Given the description of an element on the screen output the (x, y) to click on. 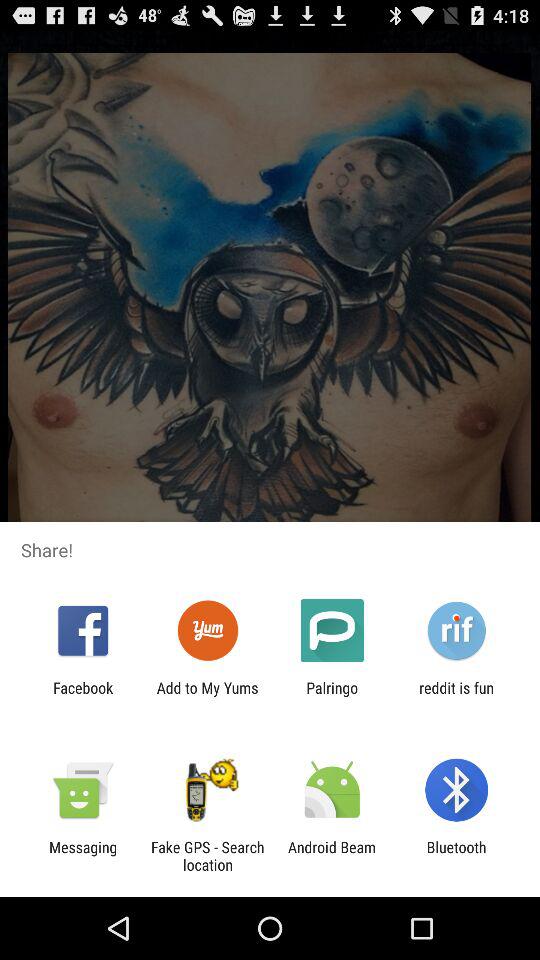
turn off the icon to the right of facebook app (207, 696)
